Given the description of an element on the screen output the (x, y) to click on. 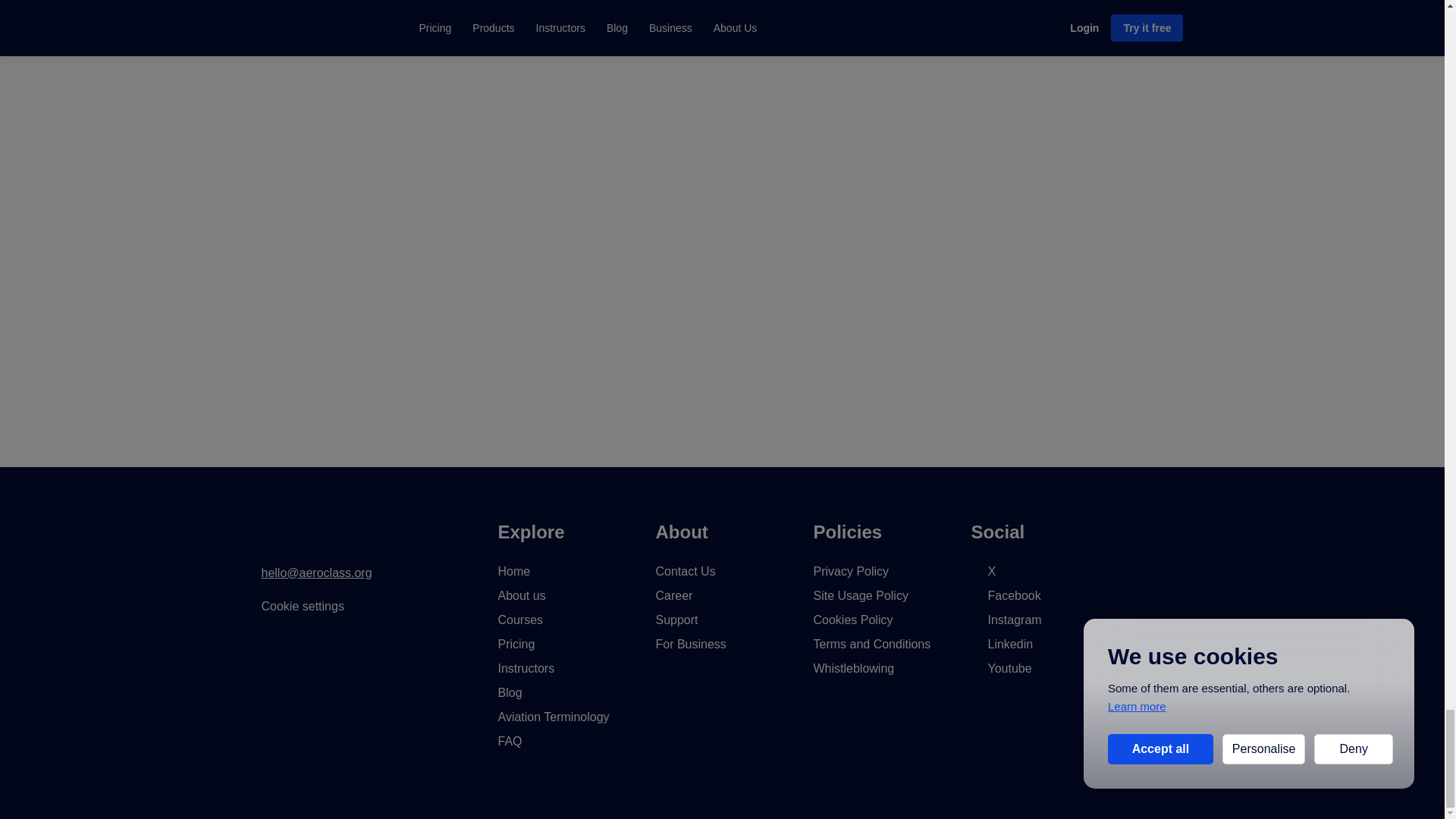
About us (520, 594)
Blog (509, 692)
Courses (520, 619)
Pricing (515, 644)
Home (513, 571)
Instructors (525, 667)
